Given the description of an element on the screen output the (x, y) to click on. 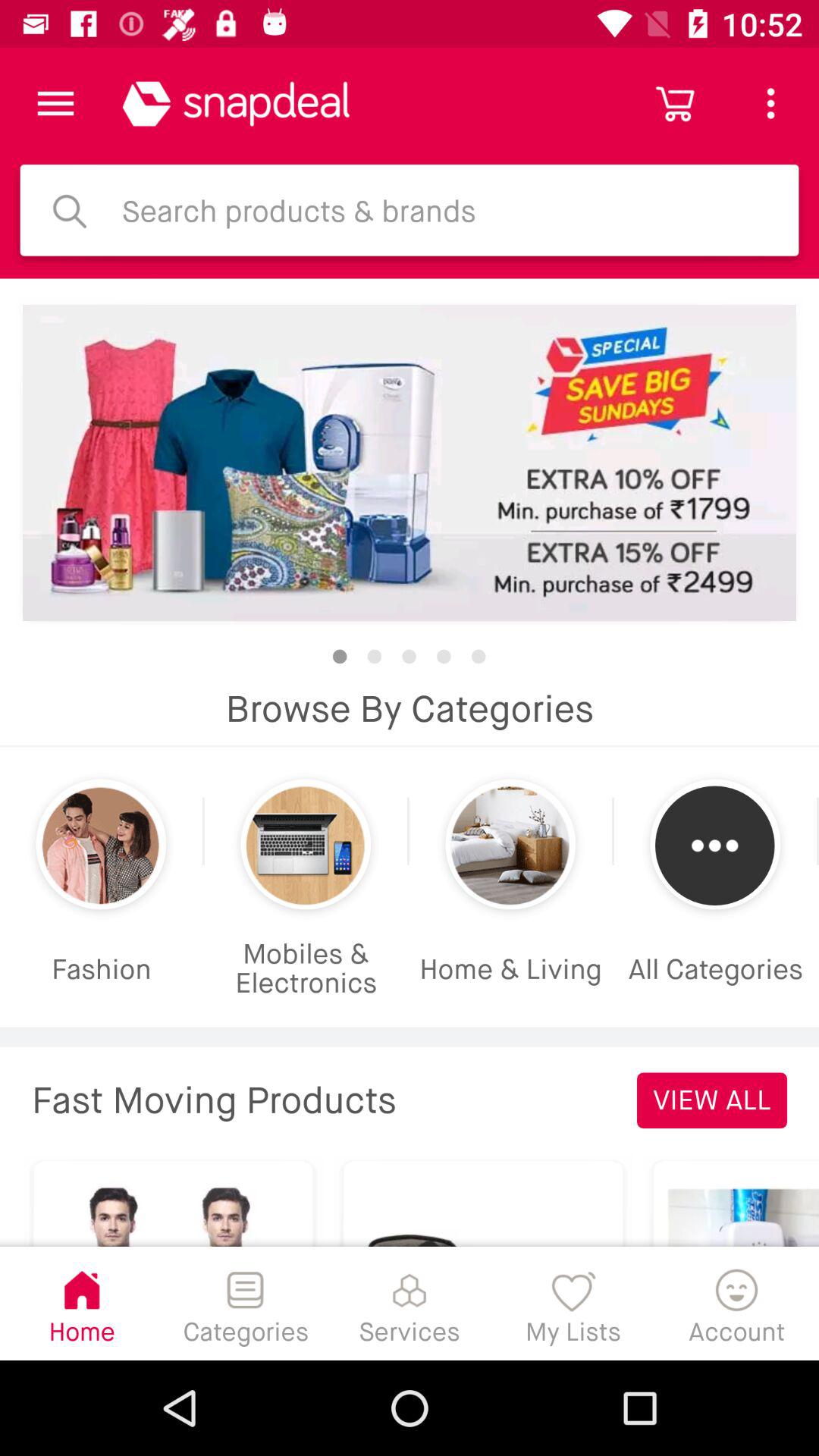
open sidebar menu (55, 103)
